Given the description of an element on the screen output the (x, y) to click on. 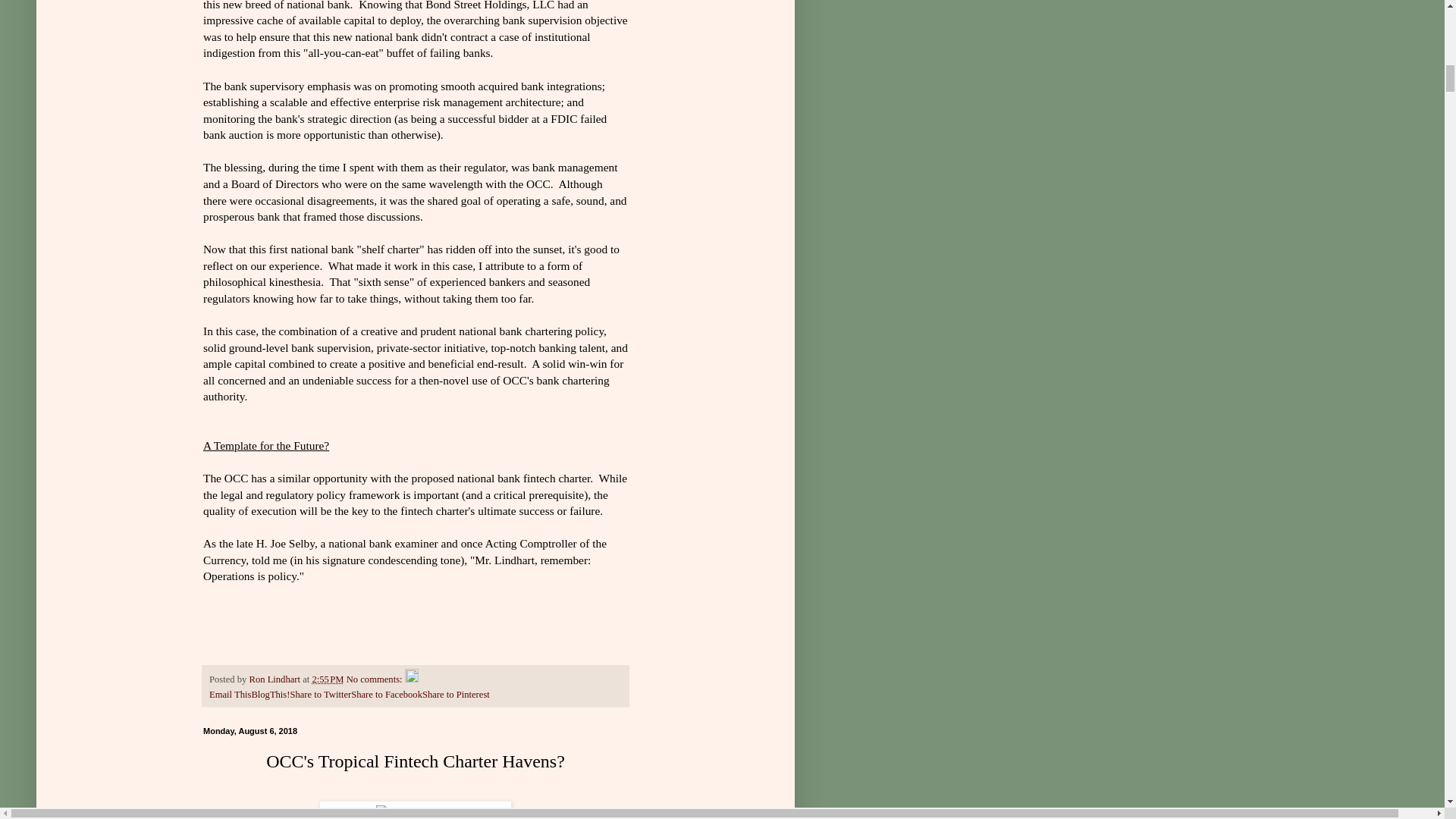
BlogThis! (269, 694)
Email This (229, 694)
Share to Twitter (319, 694)
Share to Pinterest (455, 694)
Ron Lindhart (275, 679)
Share to Facebook (386, 694)
Share to Pinterest (455, 694)
Share to Twitter (319, 694)
permanent link (327, 679)
author profile (275, 679)
Edit Post (411, 679)
Email This (229, 694)
BlogThis! (269, 694)
Share to Facebook (386, 694)
